Given the description of an element on the screen output the (x, y) to click on. 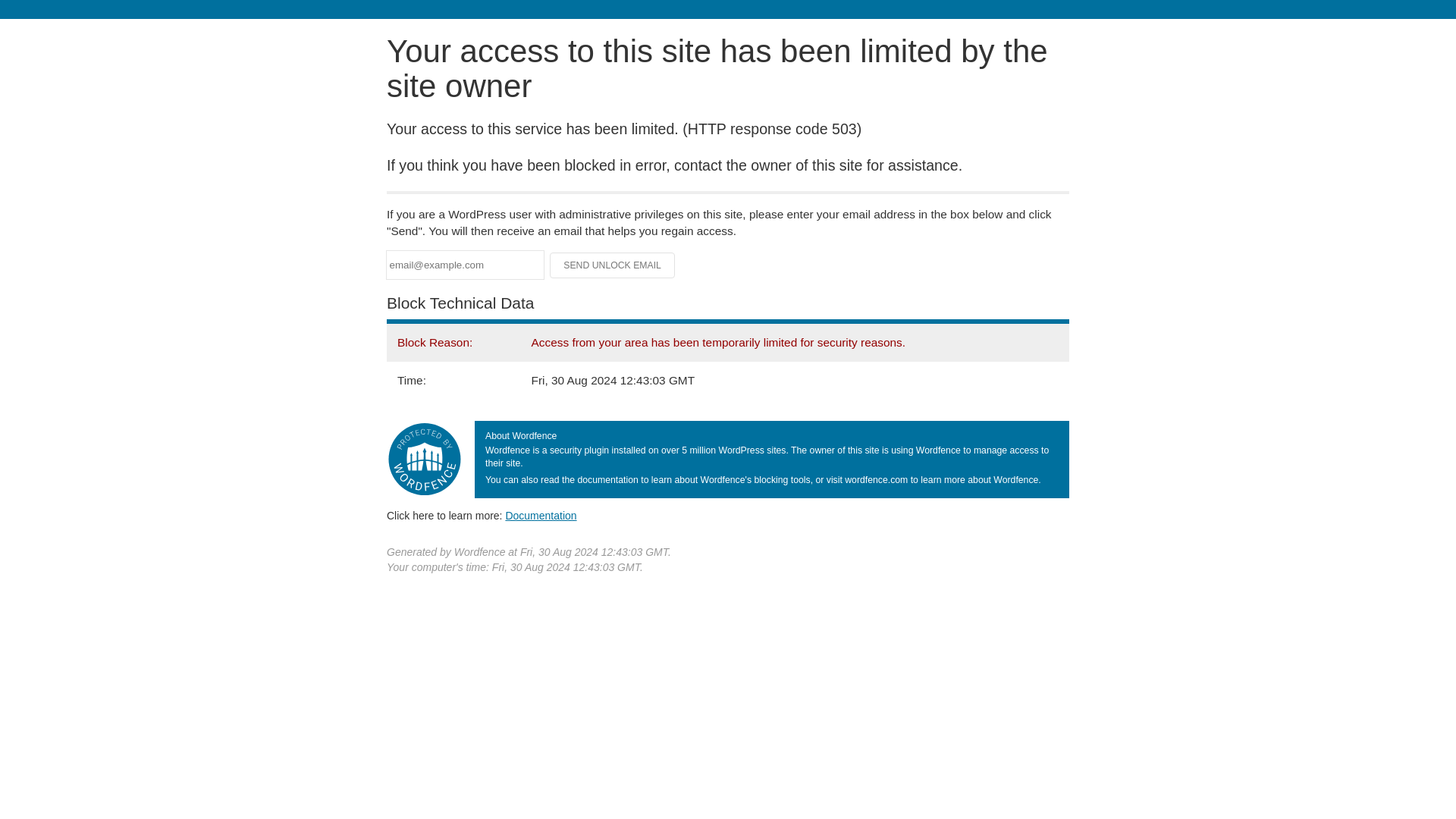
Send Unlock Email (612, 265)
Send Unlock Email (612, 265)
Documentation (540, 515)
